Given the description of an element on the screen output the (x, y) to click on. 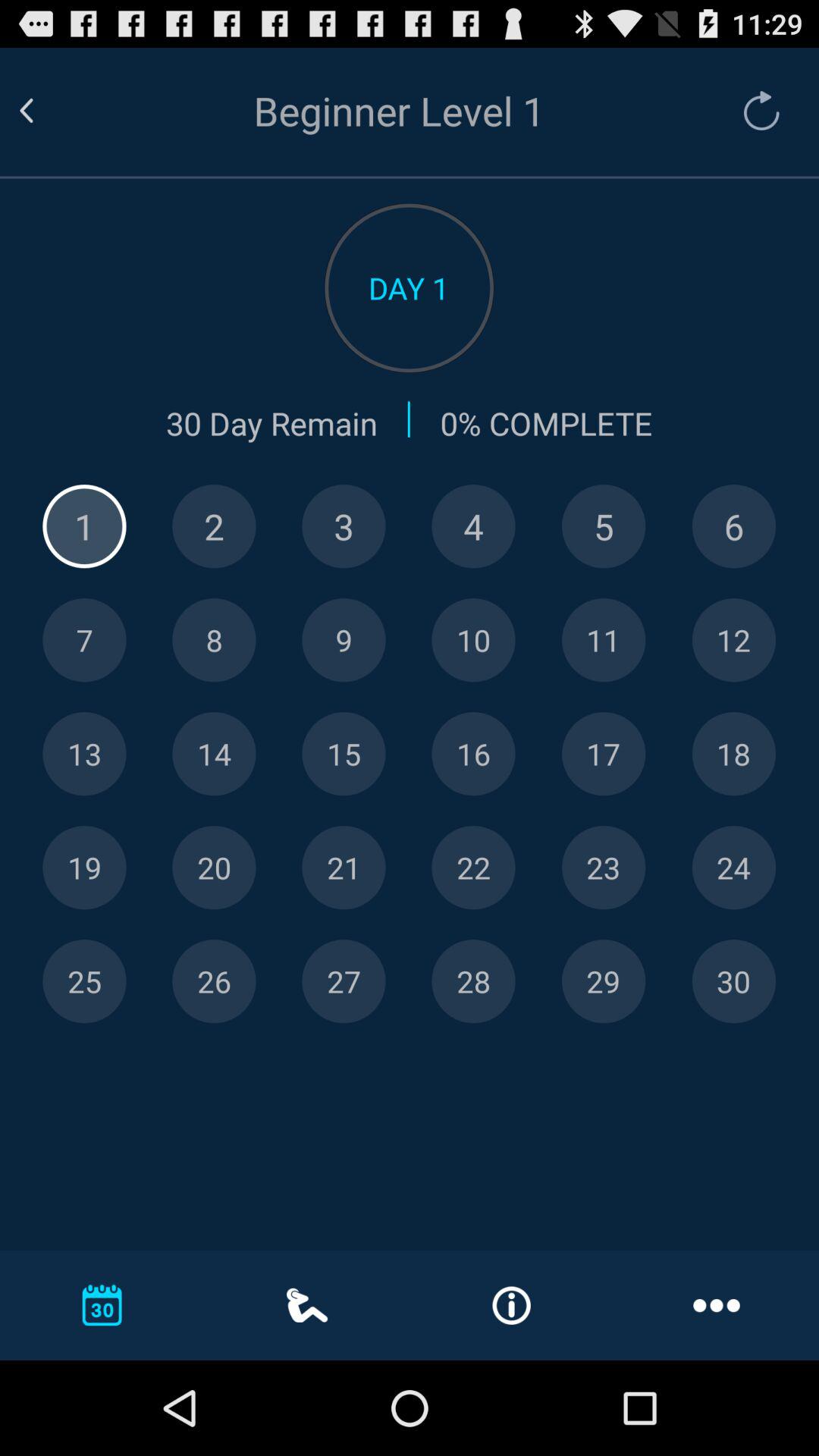
shown day (473, 753)
